Given the description of an element on the screen output the (x, y) to click on. 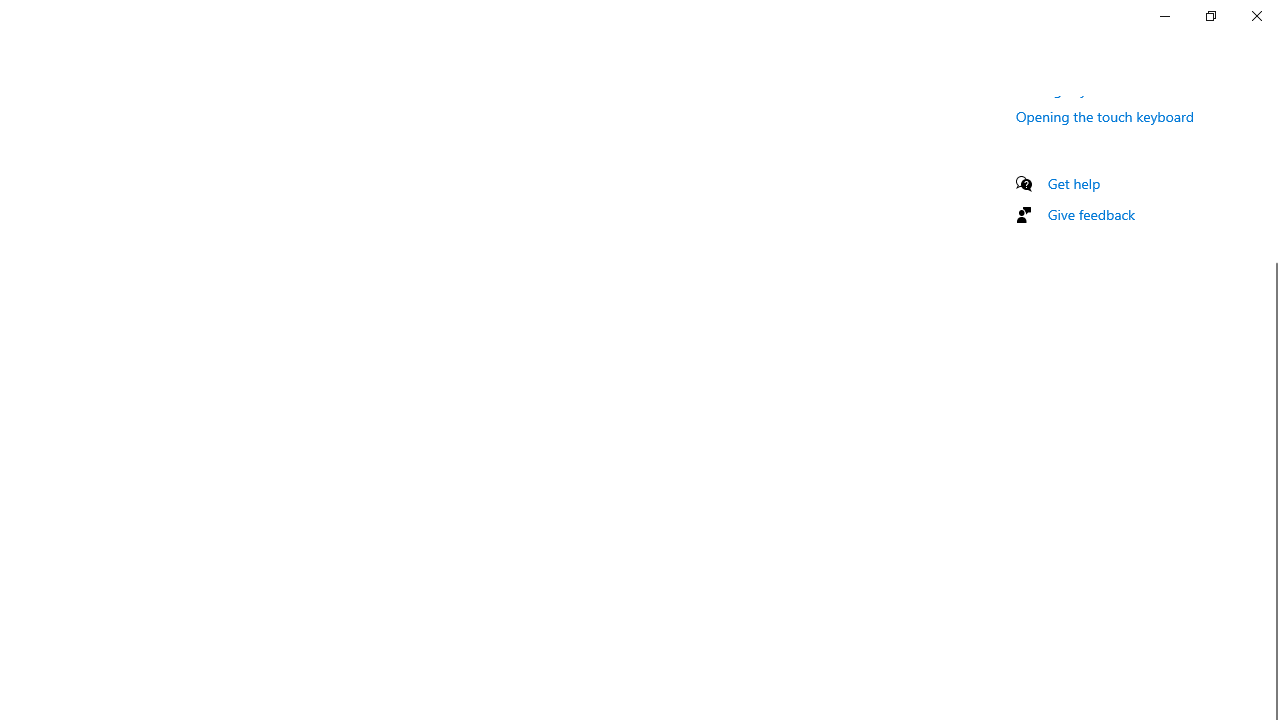
Close Settings (1256, 15)
Vertical Large Decrease (1272, 187)
Finding keyboard shortcuts (1100, 89)
Opening the touch keyboard (1105, 116)
Restore Settings (1210, 15)
Vertical Small Decrease (1272, 103)
Get help (1074, 183)
Minimize Settings (1164, 15)
Give feedback (1091, 214)
